Given the description of an element on the screen output the (x, y) to click on. 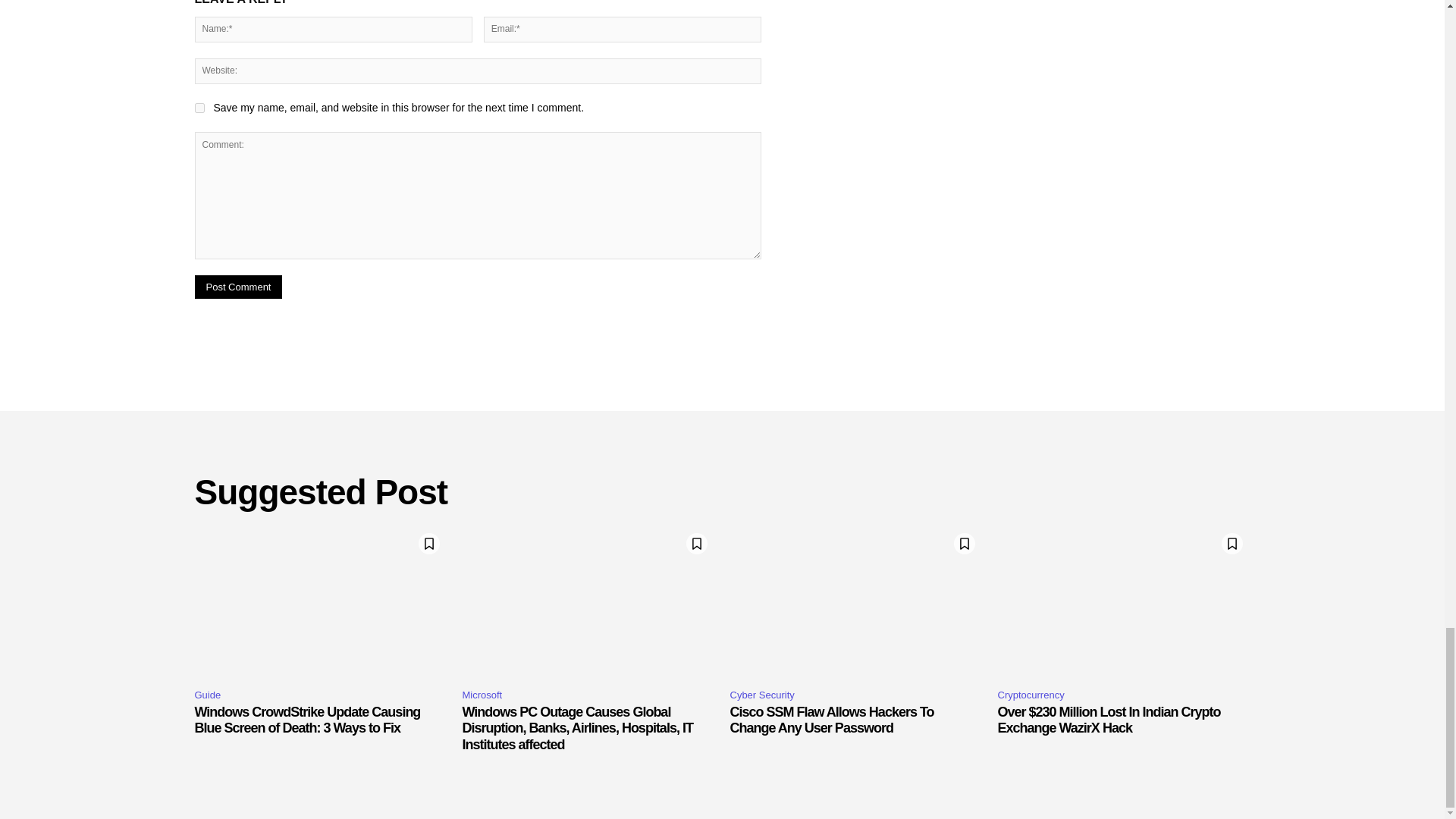
Post Comment (237, 286)
Post Comment (237, 286)
yes (198, 108)
